Given the description of an element on the screen output the (x, y) to click on. 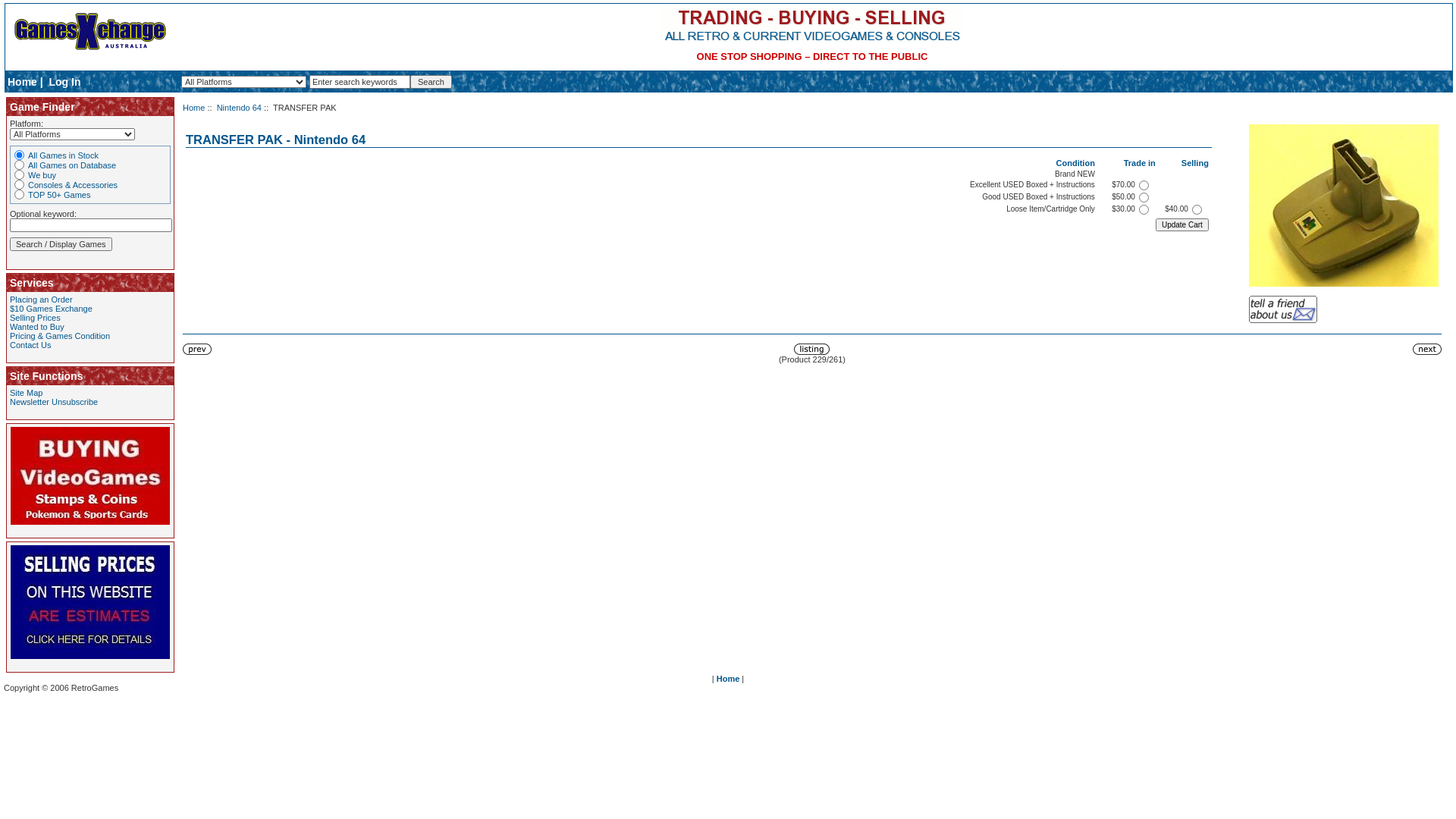
 Powered by Zen Cart :: The Art of E-Commerce  Element type: hover (88, 34)
 Return to the Product List  Element type: hover (811, 348)
 TRANSFER PAK  Element type: hover (1343, 205)
Home Element type: text (728, 678)
Search Element type: text (430, 81)
 Buying Videogames  Element type: hover (89, 475)
Home Element type: text (193, 107)
 Next  Element type: hover (1426, 348)
Selling Prices Element type: text (34, 317)
Nintendo 64 Element type: text (238, 107)
Log In Element type: text (64, 81)
Newsletter Unsubscribe Element type: text (53, 401)
Home Element type: text (22, 81)
Site Map Element type: text (25, 392)
Contact Us Element type: text (29, 344)
Pricing & Games Condition Element type: text (59, 335)
Search / Display Games Element type: text (60, 244)
 Tell a Friend  Element type: hover (1282, 309)
 SELLING PRICES  Element type: hover (89, 601)
Wanted to Buy Element type: text (36, 326)
 Previous  Element type: hover (196, 348)
$10 Games Exchange Element type: text (50, 308)
Placing an Order Element type: text (40, 299)
